Given the description of an element on the screen output the (x, y) to click on. 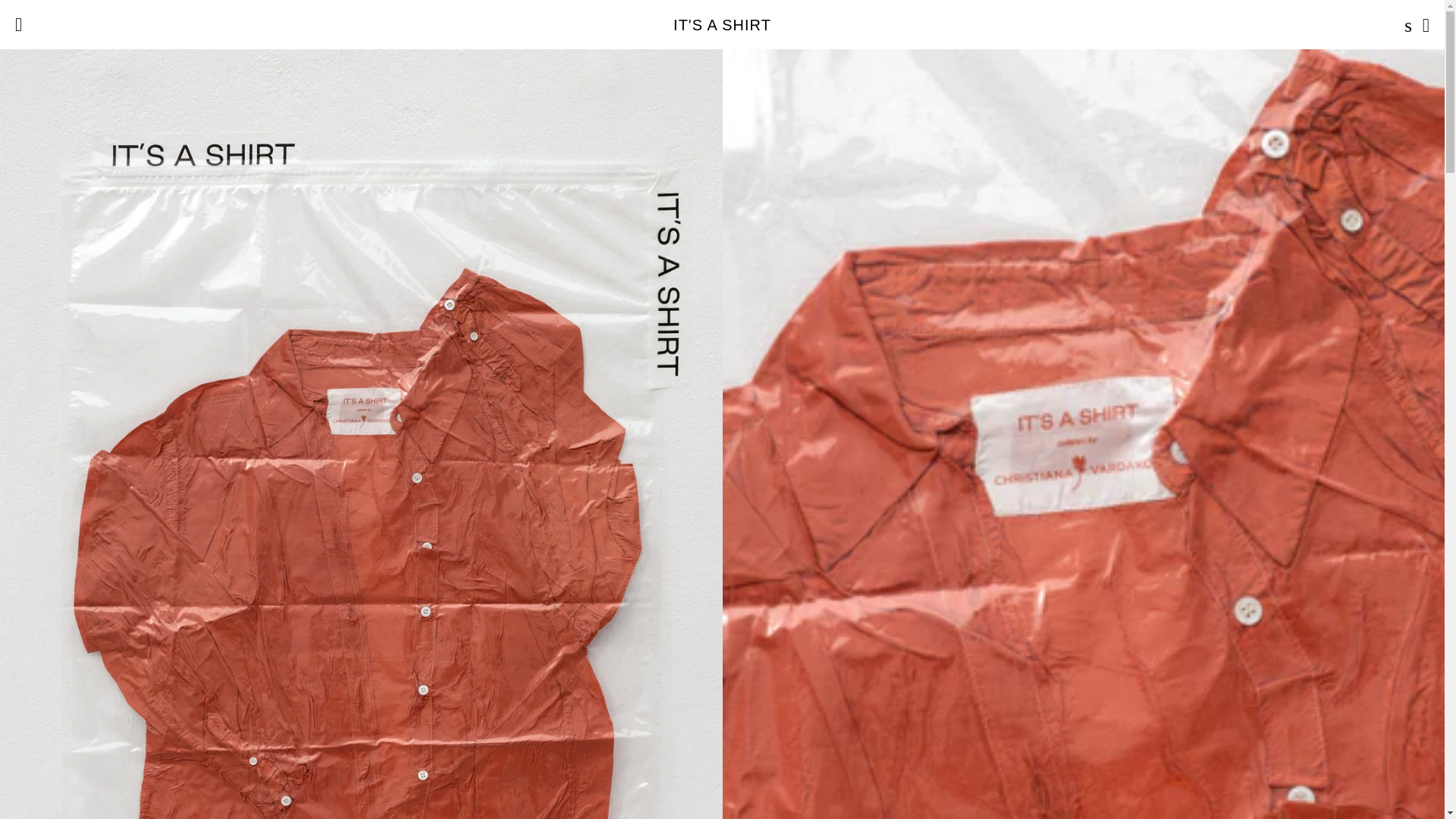
IT'S A SHIRT (722, 24)
